Given the description of an element on the screen output the (x, y) to click on. 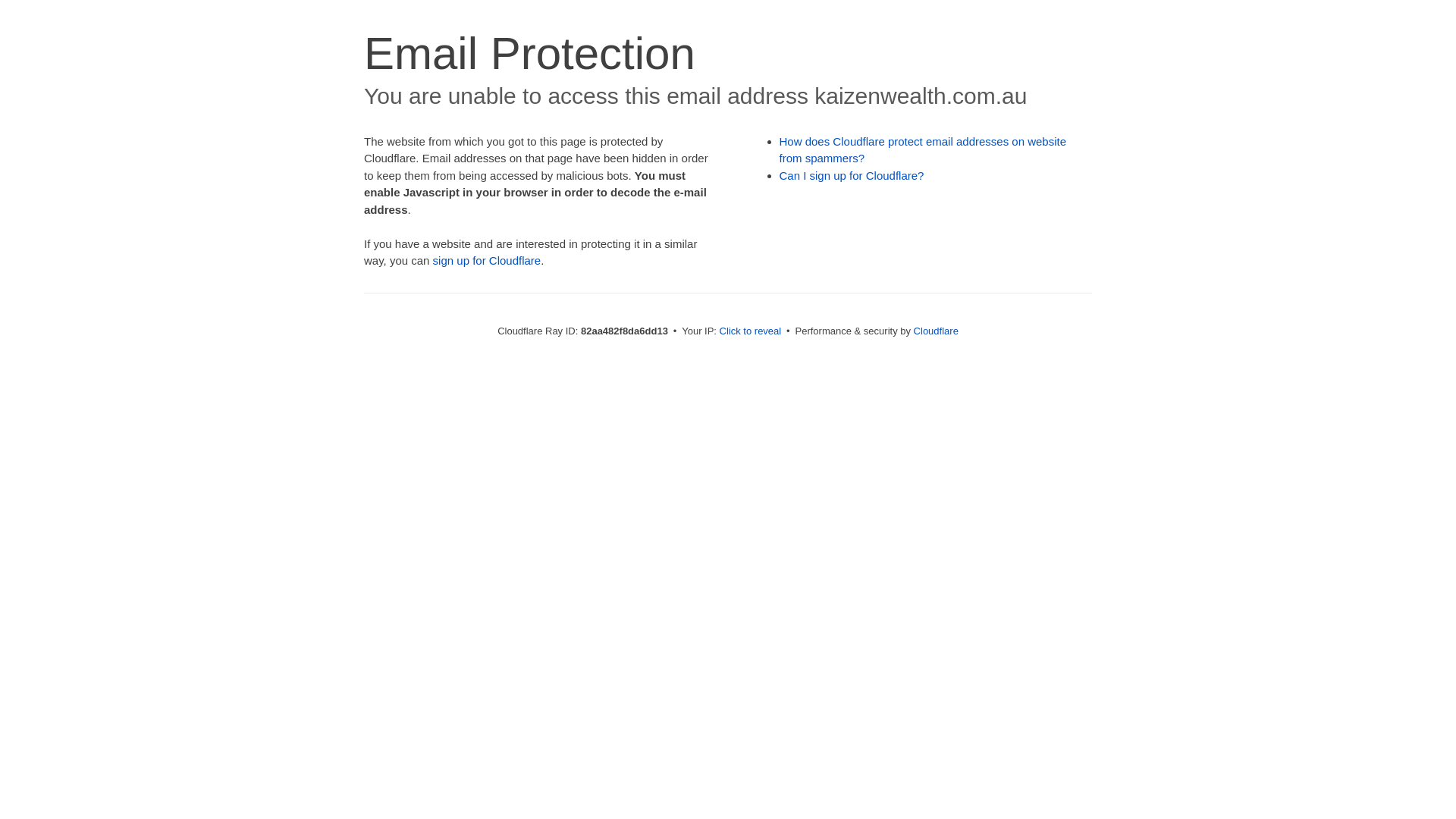
Cloudflare Element type: text (935, 330)
sign up for Cloudflare Element type: text (487, 260)
Click to reveal Element type: text (750, 330)
Can I sign up for Cloudflare? Element type: text (851, 175)
